Given the description of an element on the screen output the (x, y) to click on. 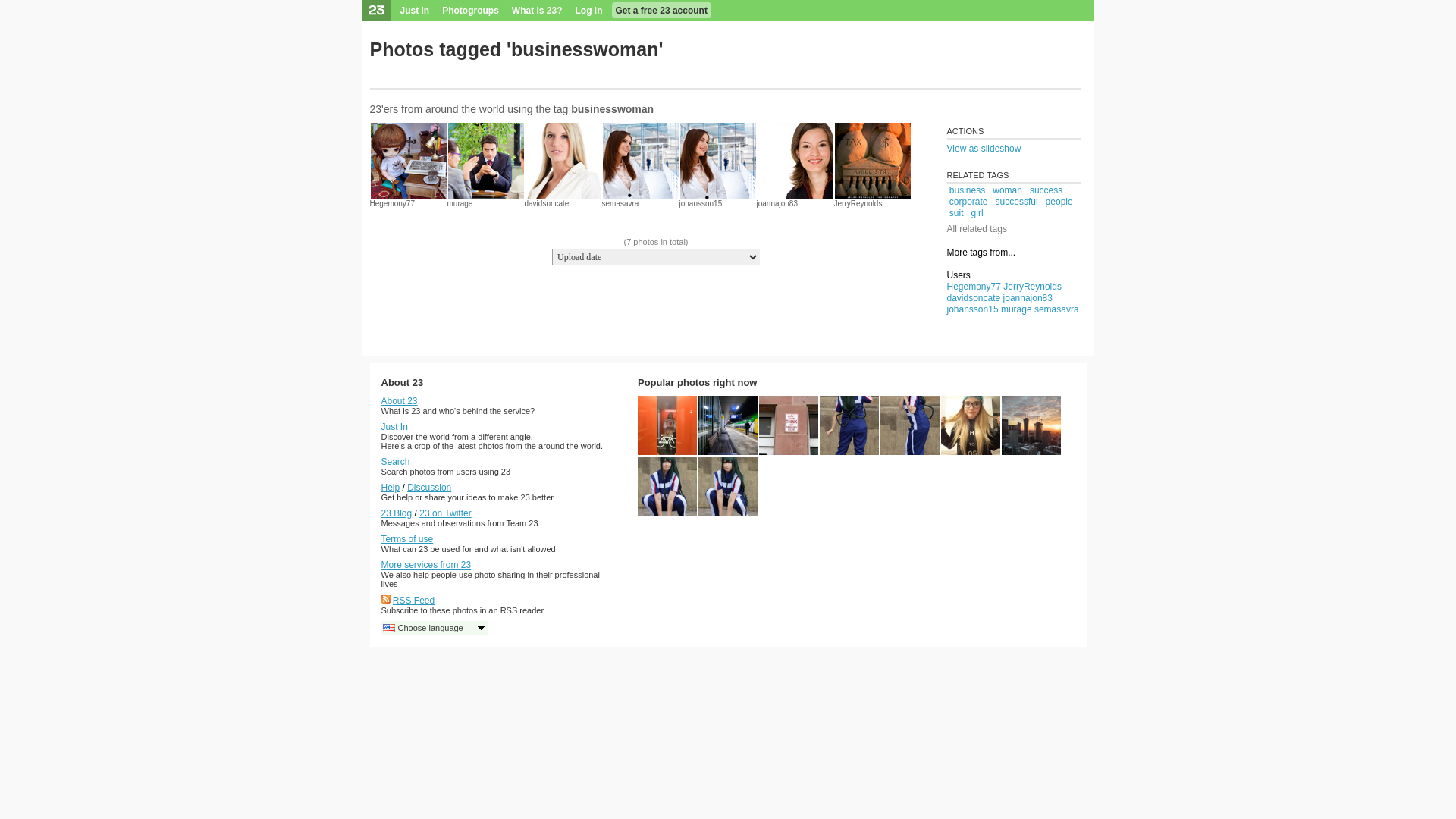
semasavra Element type: text (1056, 309)
business Element type: text (967, 190)
RSS Feed Element type: text (413, 600)
Just In Element type: text (414, 10)
johansson15 Element type: text (971, 309)
Terms of use Element type: text (406, 538)
successful Element type: text (1016, 201)
View as slideshow Element type: text (1012, 148)
johansson15 Element type: text (700, 203)
About 23 Element type: text (398, 400)
Discussion Element type: text (429, 487)
More services from 23 Element type: text (425, 564)
What is 23? Element type: text (536, 10)
23 Blog Element type: text (395, 513)
girl Element type: text (977, 212)
success Element type: text (1045, 190)
  Element type: text (377, 78)
suit Element type: text (956, 212)
All related tags Element type: text (976, 228)
semasavra Element type: text (620, 203)
Search Element type: text (394, 461)
davidsoncate Element type: text (973, 297)
Just In Element type: text (393, 426)
Get a free 23 account Element type: text (661, 10)
JerryReynolds Element type: text (1032, 286)
murage Element type: text (1016, 309)
Log in Element type: text (588, 10)
joannajon83 Element type: text (1027, 297)
murage Element type: text (460, 203)
Help Element type: text (389, 487)
Photogroups Element type: text (470, 10)
davidsoncate Element type: text (546, 203)
Hegemony77 Element type: text (973, 286)
23 on Twitter Element type: text (444, 513)
corporate Element type: text (968, 201)
joannajon83 Element type: text (777, 203)
JerryReynolds Element type: text (858, 203)
Hegemony77 Element type: text (392, 203)
people Element type: text (1059, 201)
woman Element type: text (1007, 190)
